Given the description of an element on the screen output the (x, y) to click on. 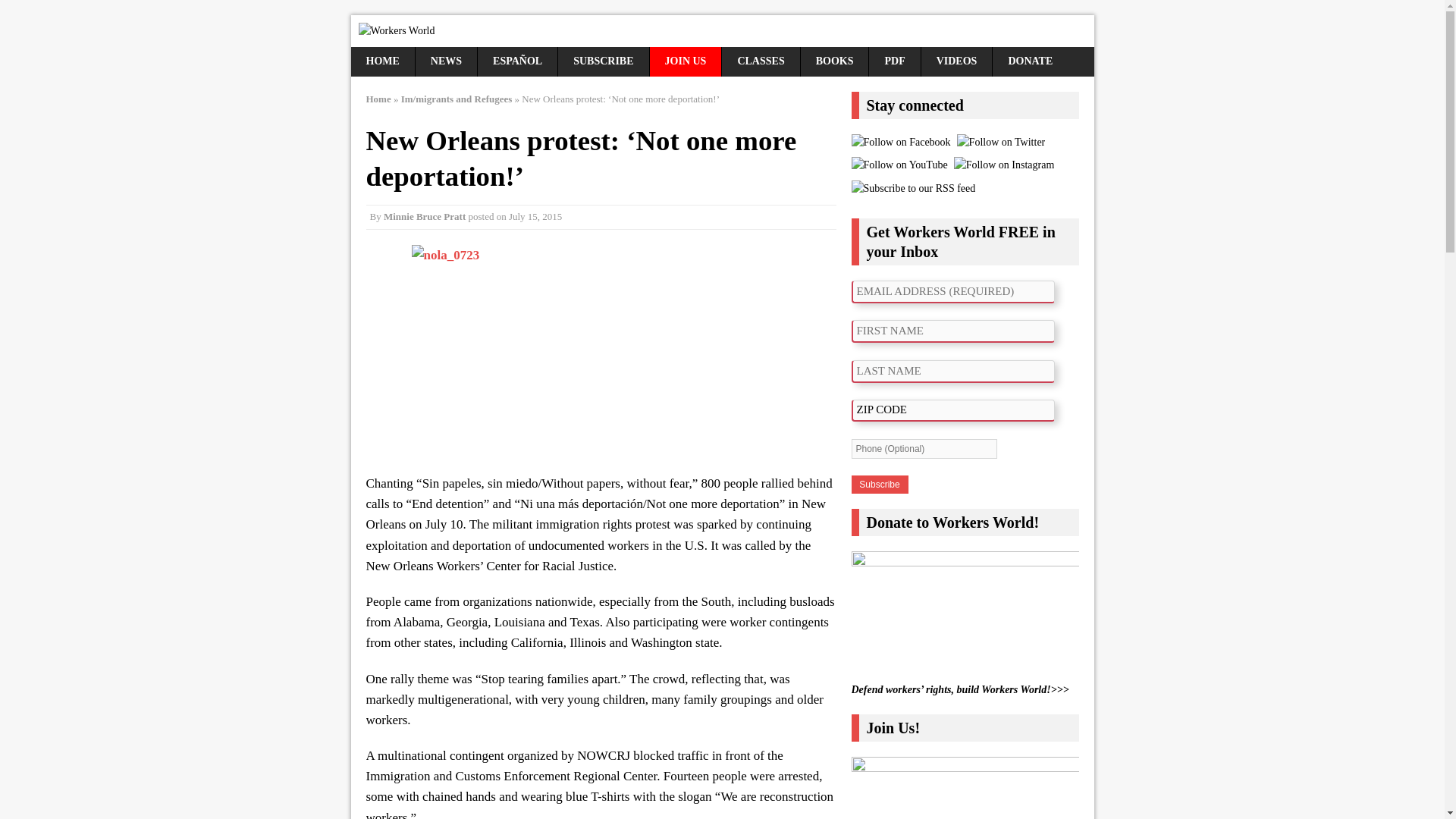
Subscribe (878, 484)
Workers World (721, 30)
SUBSCRIBE (602, 61)
HOME (381, 61)
PDF (894, 61)
NEWS (445, 61)
BOOKS (834, 61)
CLASSES (760, 61)
JOIN US (685, 61)
